Given the description of an element on the screen output the (x, y) to click on. 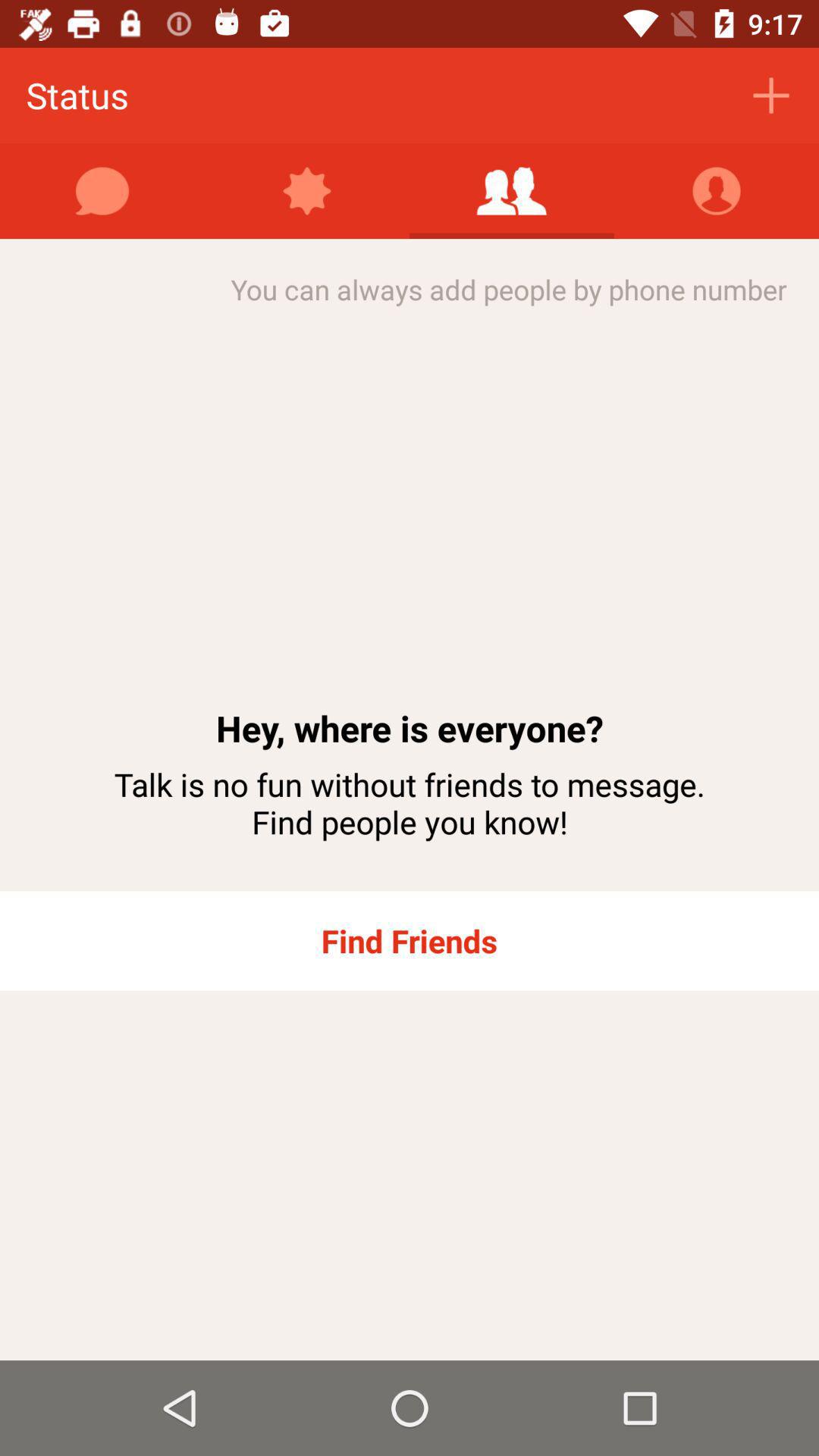
add option (511, 190)
